Given the description of an element on the screen output the (x, y) to click on. 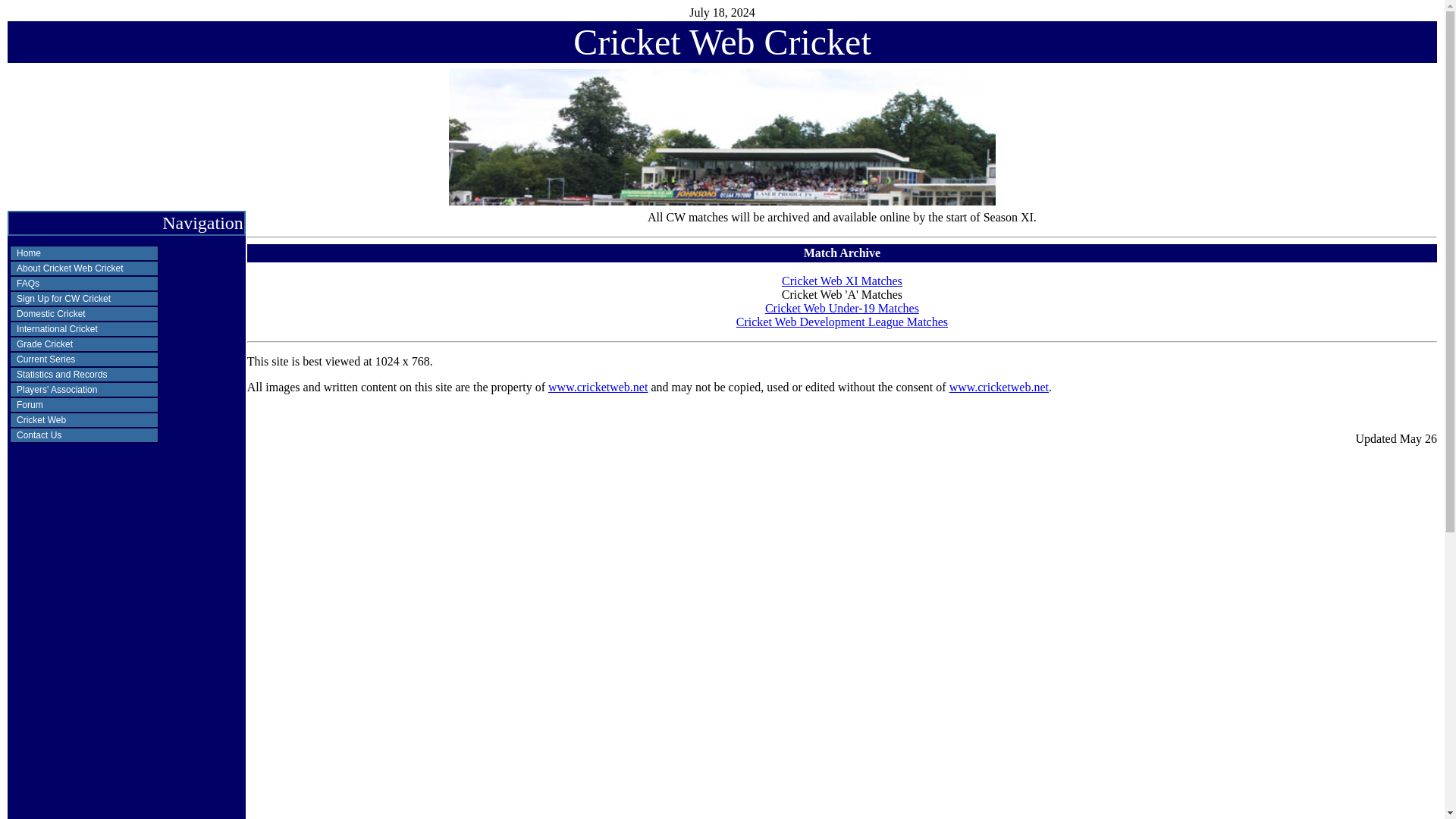
Current Series (84, 359)
Cricket Web (84, 419)
Cricket Web Development League Matches (841, 321)
Home (84, 253)
International Cricket (84, 328)
www.cricketweb.net (998, 386)
Cricket Web Under-19 Matches (841, 308)
Players' Association (84, 389)
FAQs (84, 283)
Sign Up for CW Cricket (84, 298)
Cricket Web XI Matches (841, 280)
About Cricket Web Cricket (84, 268)
Grade Cricket (84, 344)
www.cricketweb.net (597, 386)
Statistics and Records (84, 374)
